Given the description of an element on the screen output the (x, y) to click on. 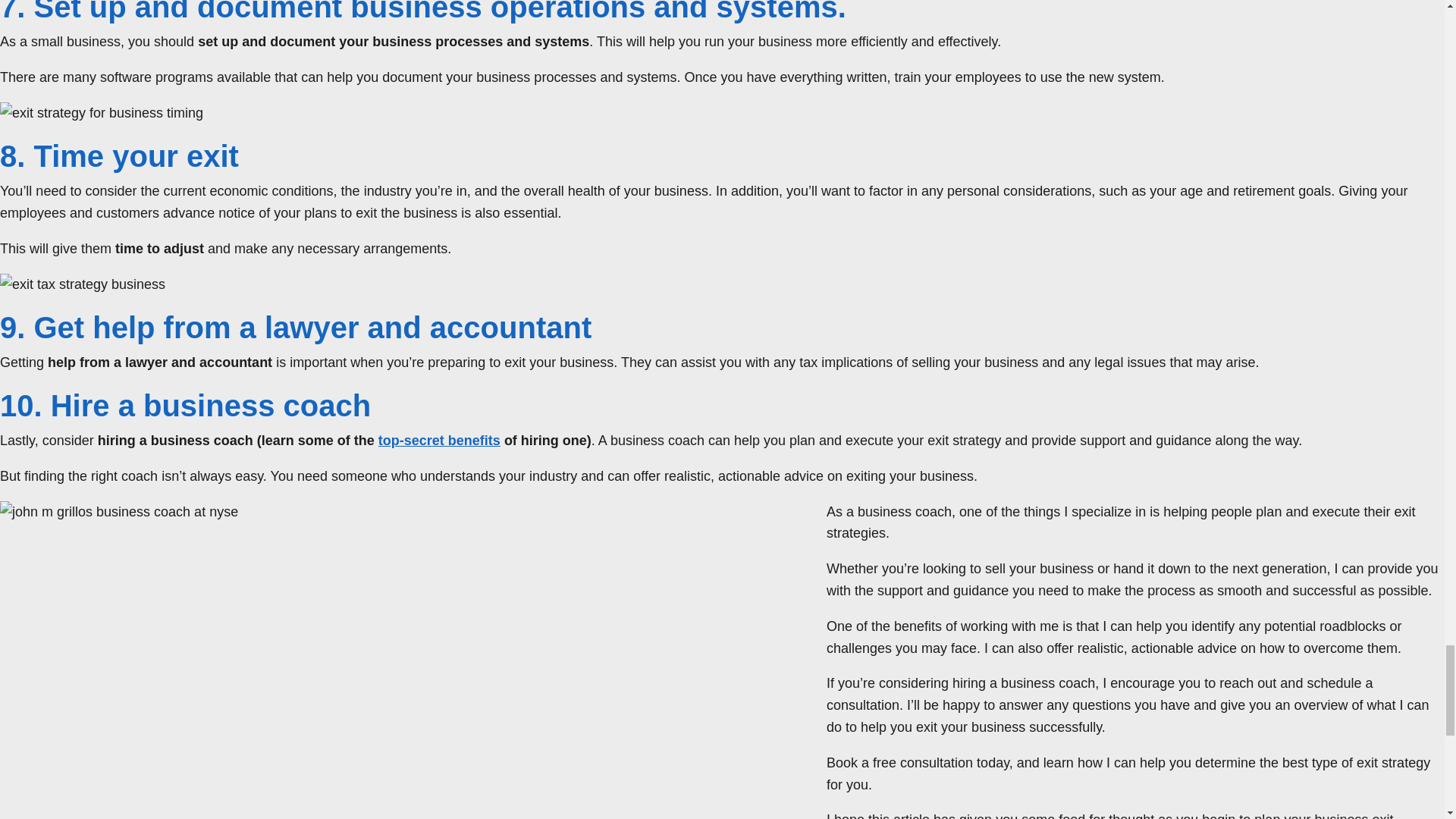
exit tax strategy business (82, 284)
top-secret benefits (439, 440)
exit strategy for business timing (101, 113)
